Given the description of an element on the screen output the (x, y) to click on. 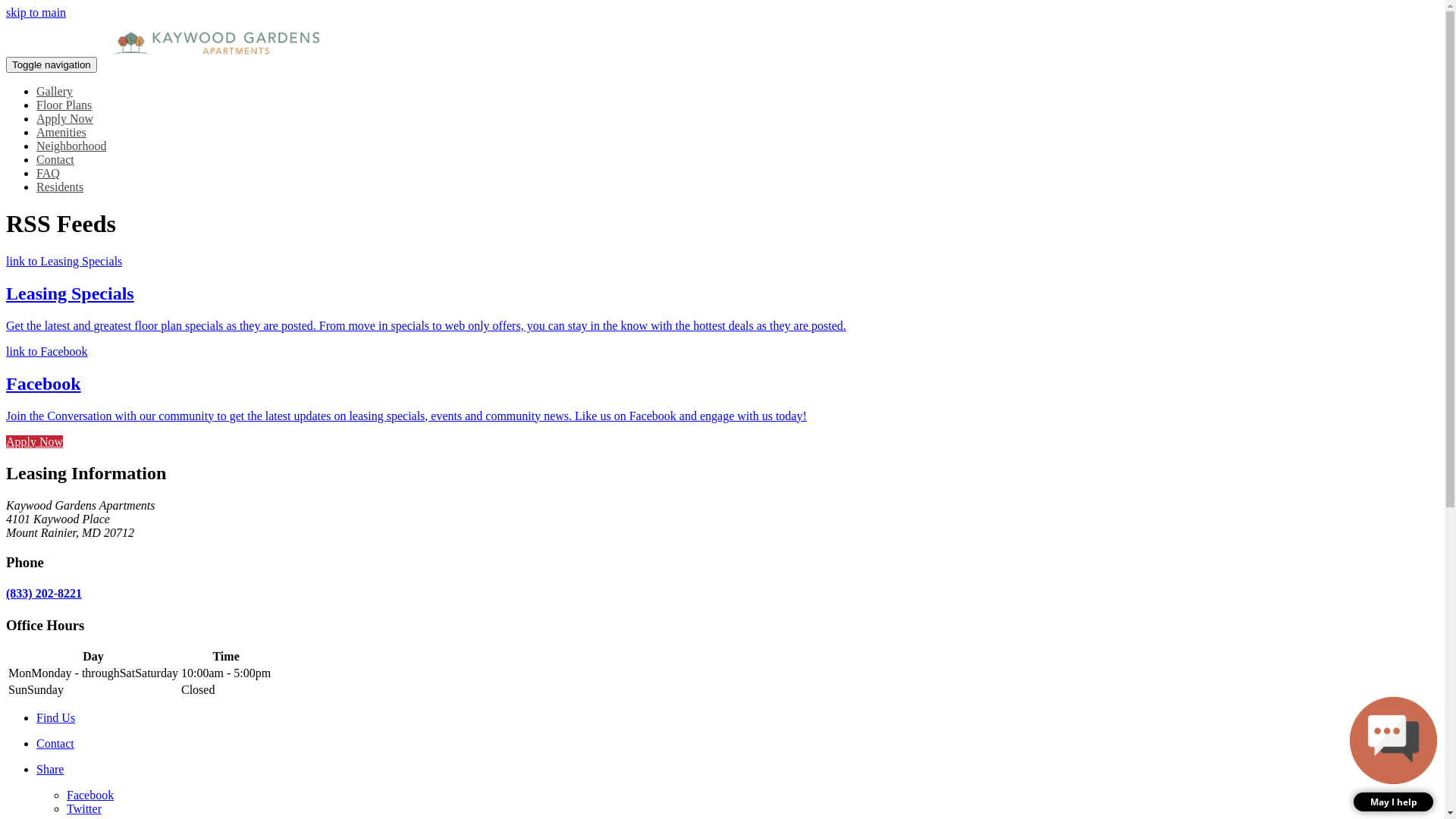
Contact Element type: text (55, 159)
May I help Element type: text (1393, 753)
FAQ Element type: text (47, 172)
Toggle navigation Element type: text (51, 64)
Twitter Element type: text (83, 808)
Residents Element type: text (59, 186)
Amenities Element type: text (61, 131)
Facebook Element type: text (89, 794)
Find Us Element type: text (737, 717)
Apply Now Element type: text (64, 118)
Concierge Chatbot Element type: hover (1393, 740)
Gallery Element type: text (54, 90)
(833) 202-8221 Element type: text (43, 592)
Share Element type: text (737, 769)
Floor Plans Element type: text (63, 104)
skip to main Element type: text (35, 12)
Contact Element type: text (737, 743)
Neighborhood Element type: text (71, 145)
Apply Now Element type: text (34, 441)
